Given the description of an element on the screen output the (x, y) to click on. 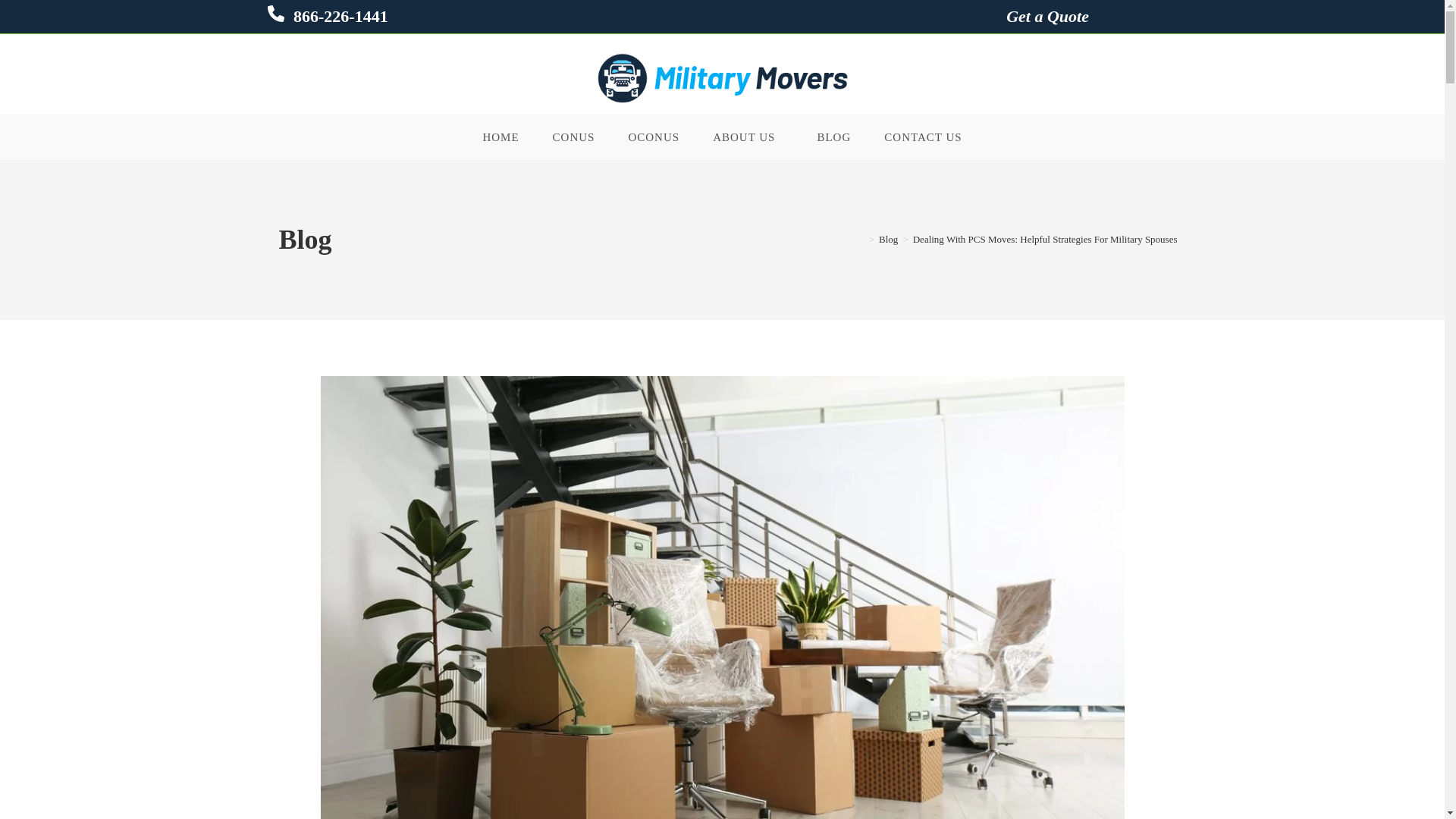
ABOUT US (747, 136)
Blog (888, 238)
OCONUS (653, 136)
CONUS (573, 136)
866-226-1441 (338, 15)
CONTACT US (922, 136)
BLOG (833, 136)
HOME (500, 136)
